Given the description of an element on the screen output the (x, y) to click on. 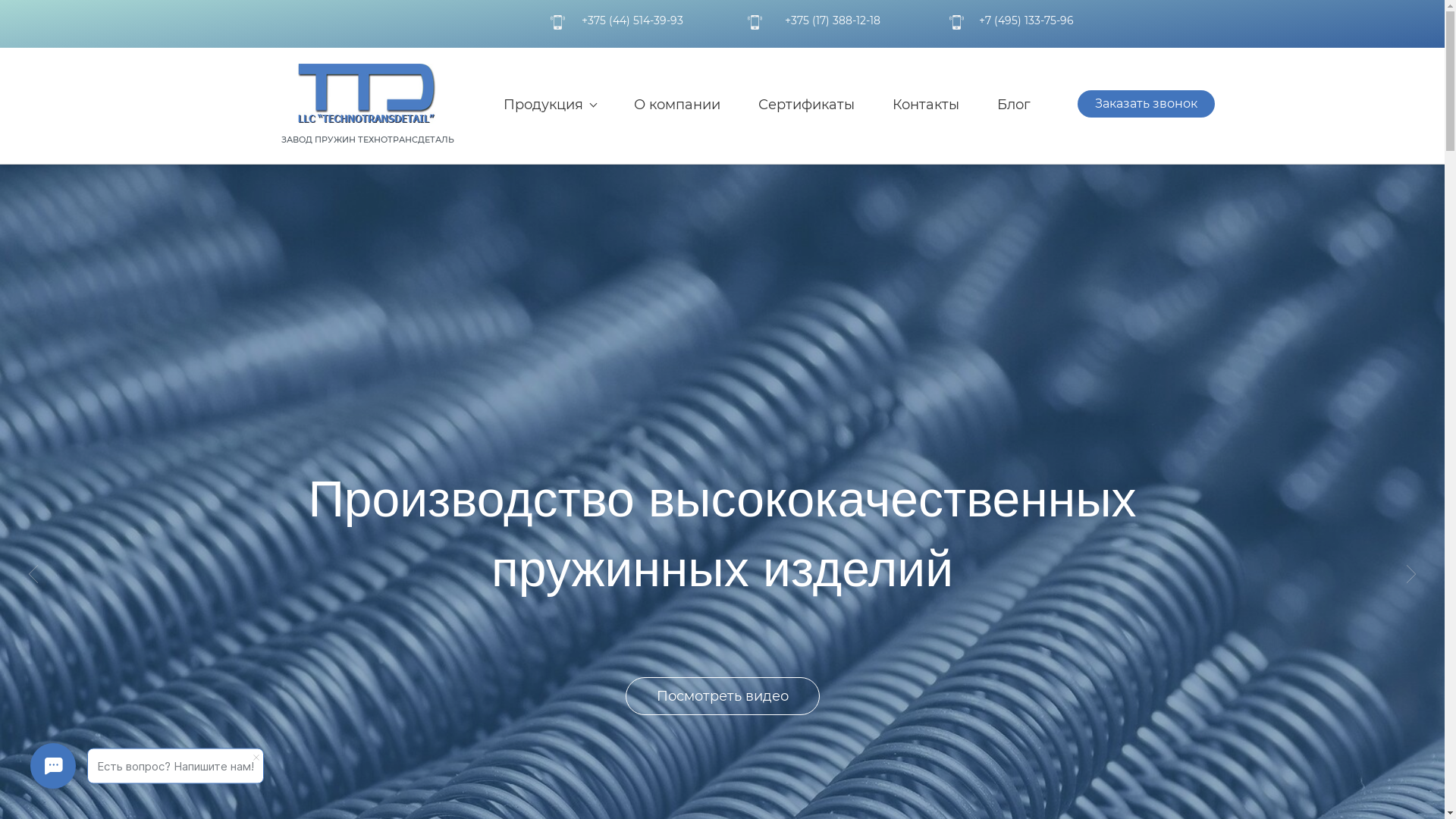
+375 (17) 388-12-18 Element type: text (832, 20)
+7 (495) 133-75-96 Element type: text (1026, 20)
+375 (44) 514-39-93 Element type: text (632, 20)
